Given the description of an element on the screen output the (x, y) to click on. 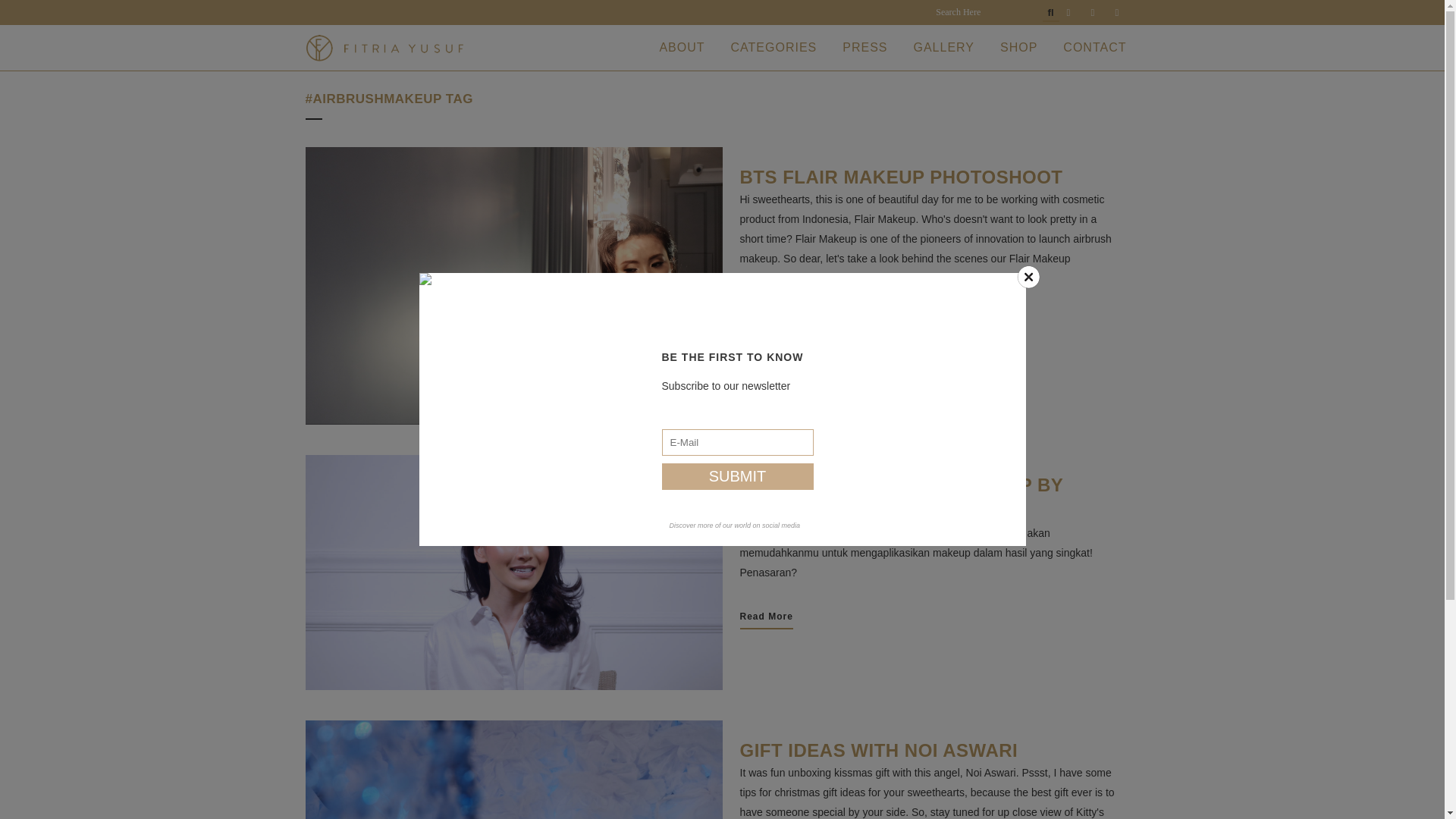
FLAWLESS AIRBRUSH MAKEUP BY FLAIR (513, 572)
Read More (766, 322)
BTS FLAIR MAKEUP PHOTOSHOOT (900, 177)
Gift Ideas with Noi Aswari (878, 750)
PRESS (864, 47)
CATEGORIES (773, 47)
BTS Flair Makeup Photoshoot (900, 177)
Gift Ideas with Noi Aswari (513, 769)
SHOP (1018, 47)
ABOUT (681, 47)
